Given the description of an element on the screen output the (x, y) to click on. 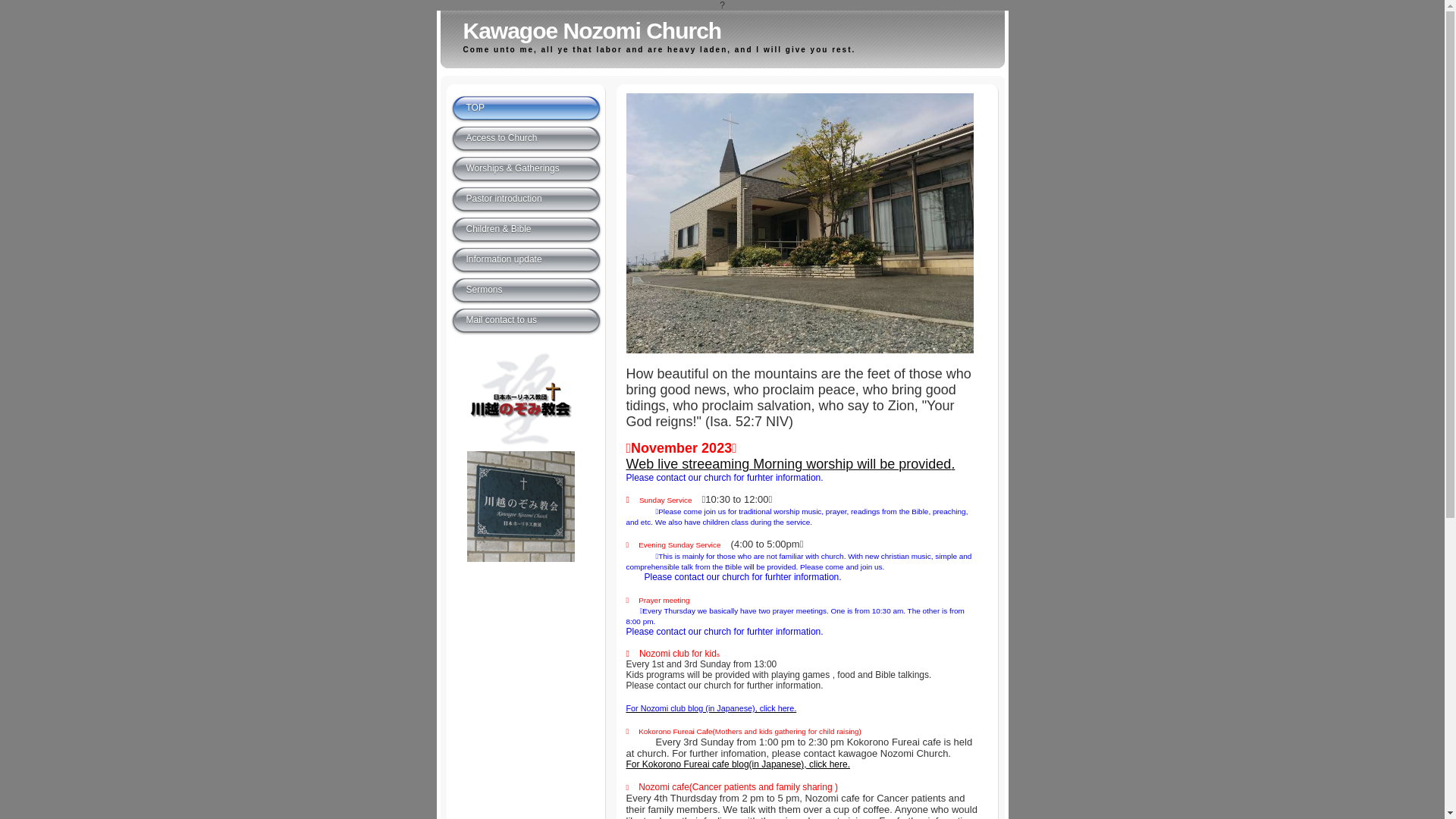
Mail contact to us Element type: text (525, 320)
TOP Element type: text (525, 108)
Information update Element type: text (525, 259)
Access to Church Element type: text (525, 138)
Pastor introduction Element type: text (525, 199)
Sermons Element type: text (525, 290)
Worships & Gatherings Element type: text (525, 168)
Web live streeaming Morning worship will be provided. Element type: text (790, 465)
Children & Bible Element type: text (525, 229)
For Kokorono Fureai cafe blog(in Japanese), click here. Element type: text (738, 764)
For Nozomi club blog (in Japanese), click here. Element type: text (711, 707)
